Given the description of an element on the screen output the (x, y) to click on. 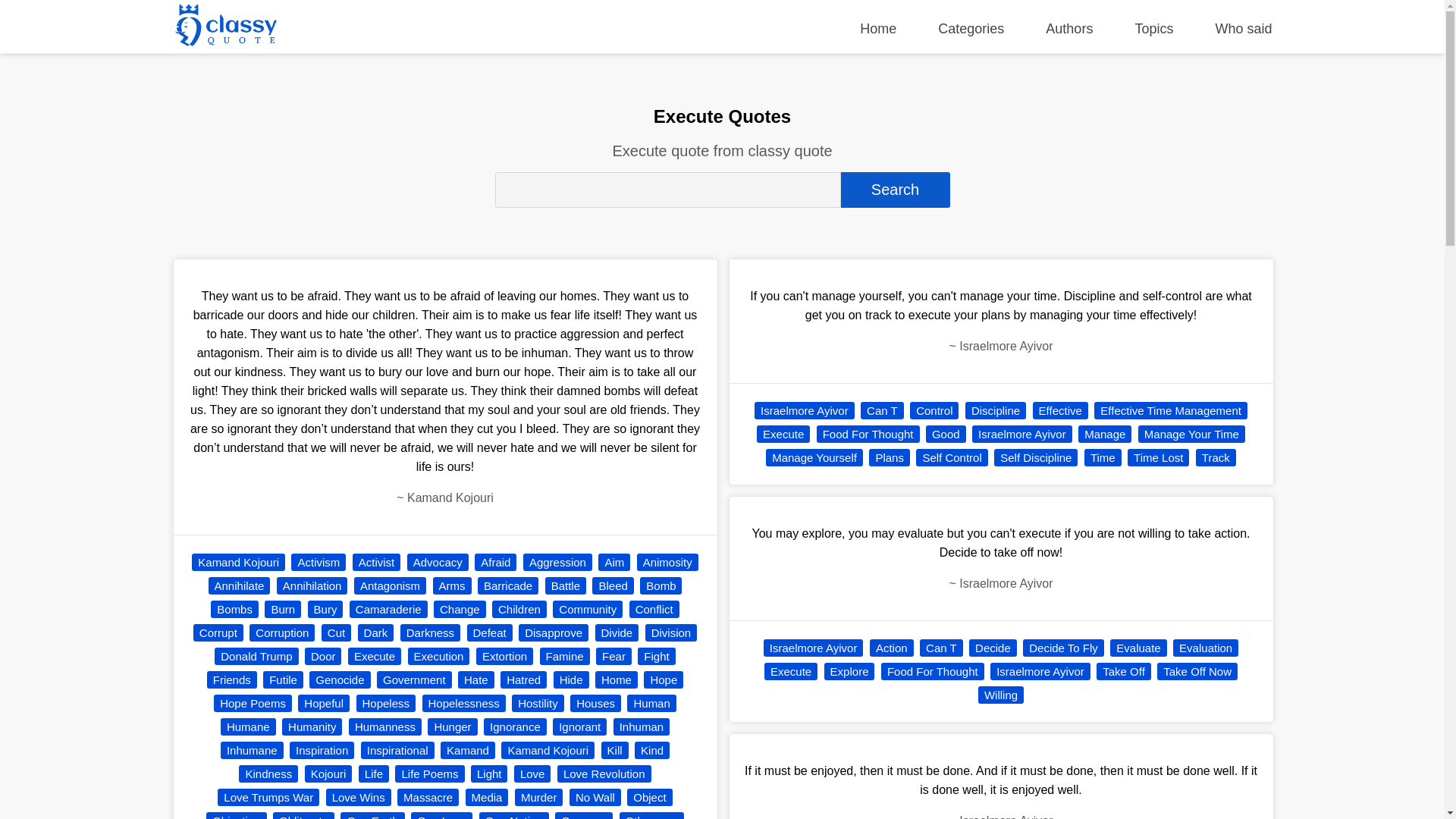
Darkness (430, 632)
Who said (1242, 28)
Defeat (489, 632)
Search (894, 189)
Home (878, 28)
Annihilation (311, 585)
Community (588, 609)
Aggression (557, 561)
Activism (318, 561)
Animosity (667, 561)
